Given the description of an element on the screen output the (x, y) to click on. 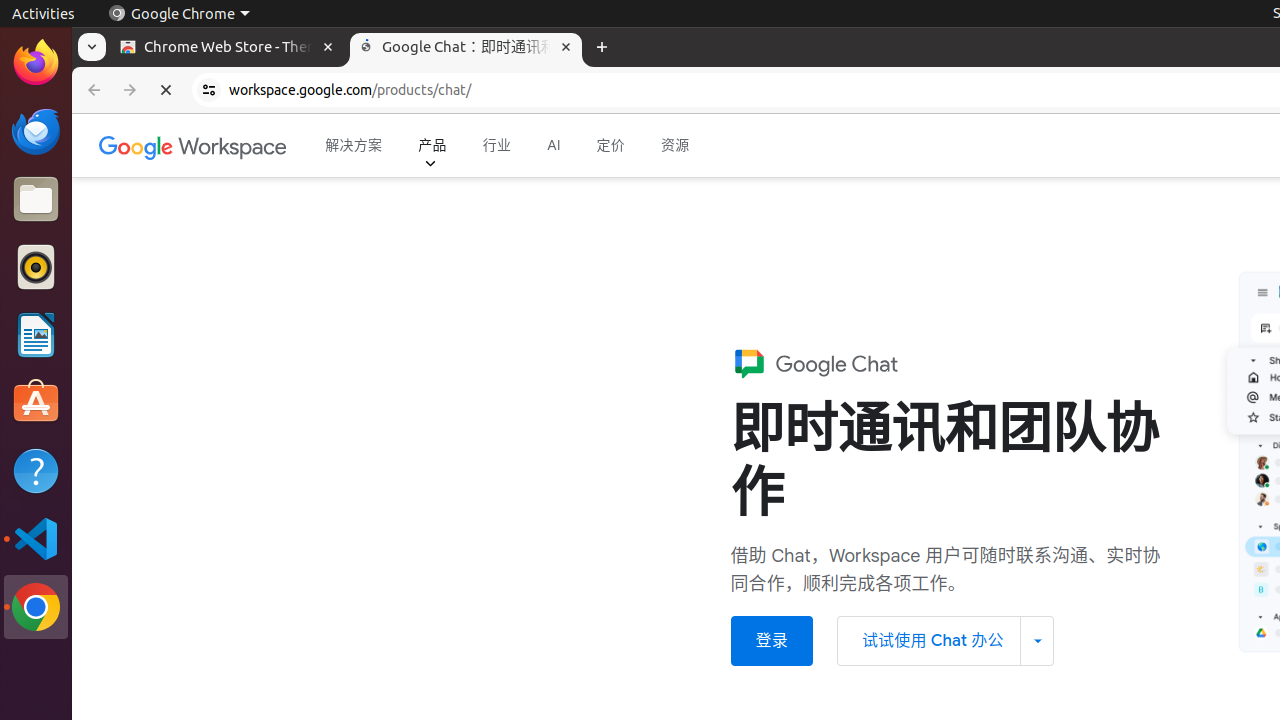
LibreOffice Writer Element type: push-button (36, 334)
产品 Element type: push-button (432, 146)
行业 Element type: push-button (497, 146)
Google Chat：即时通讯和团队协作 | Google Workspace Element type: page-tab (466, 47)
Back Element type: push-button (91, 90)
